Given the description of an element on the screen output the (x, y) to click on. 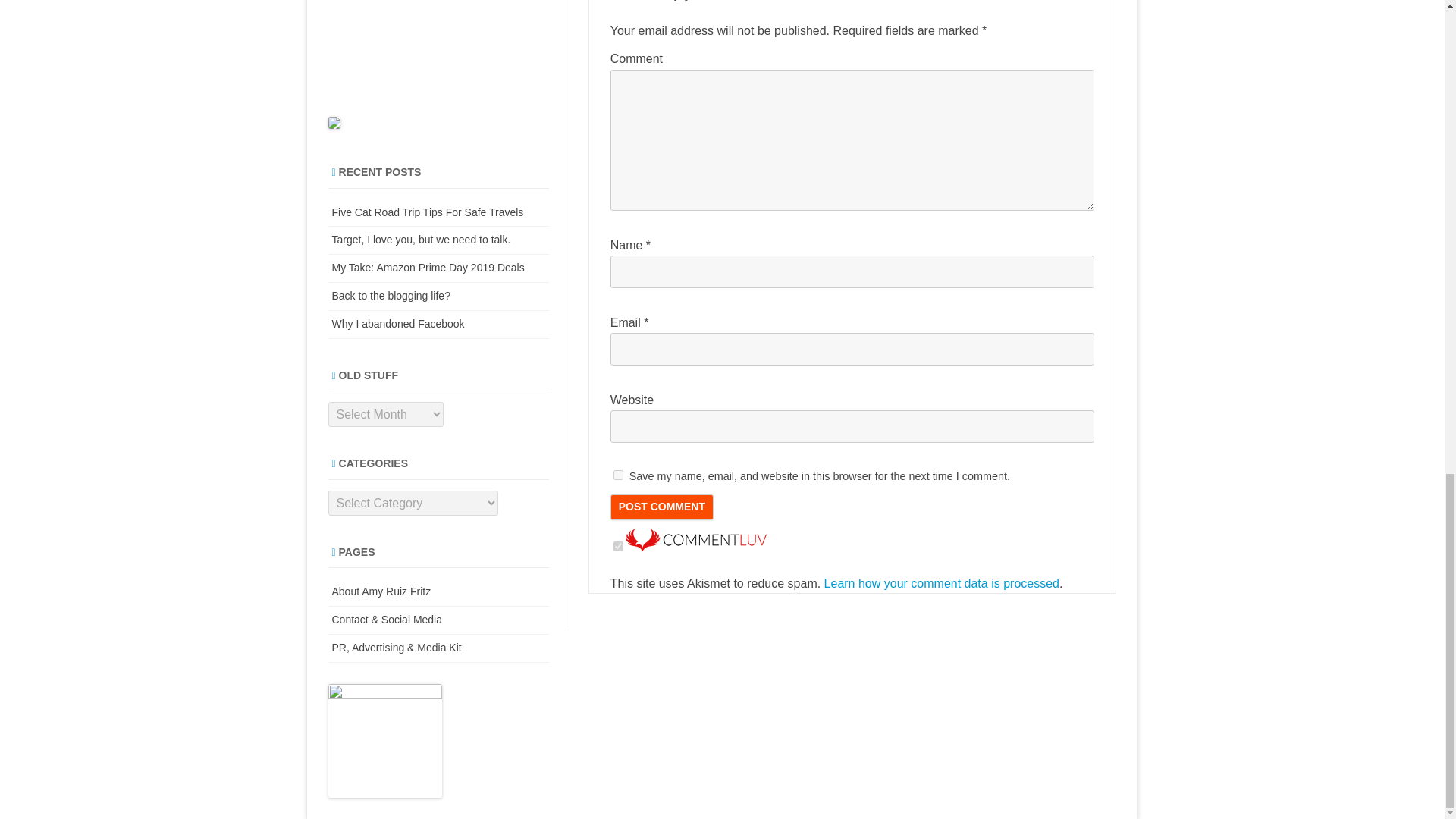
Post Comment (661, 507)
Post Comment (661, 507)
CommentLuv is enabled (696, 546)
Learn how your comment data is processed (941, 583)
yes (617, 474)
on (617, 546)
